Given the description of an element on the screen output the (x, y) to click on. 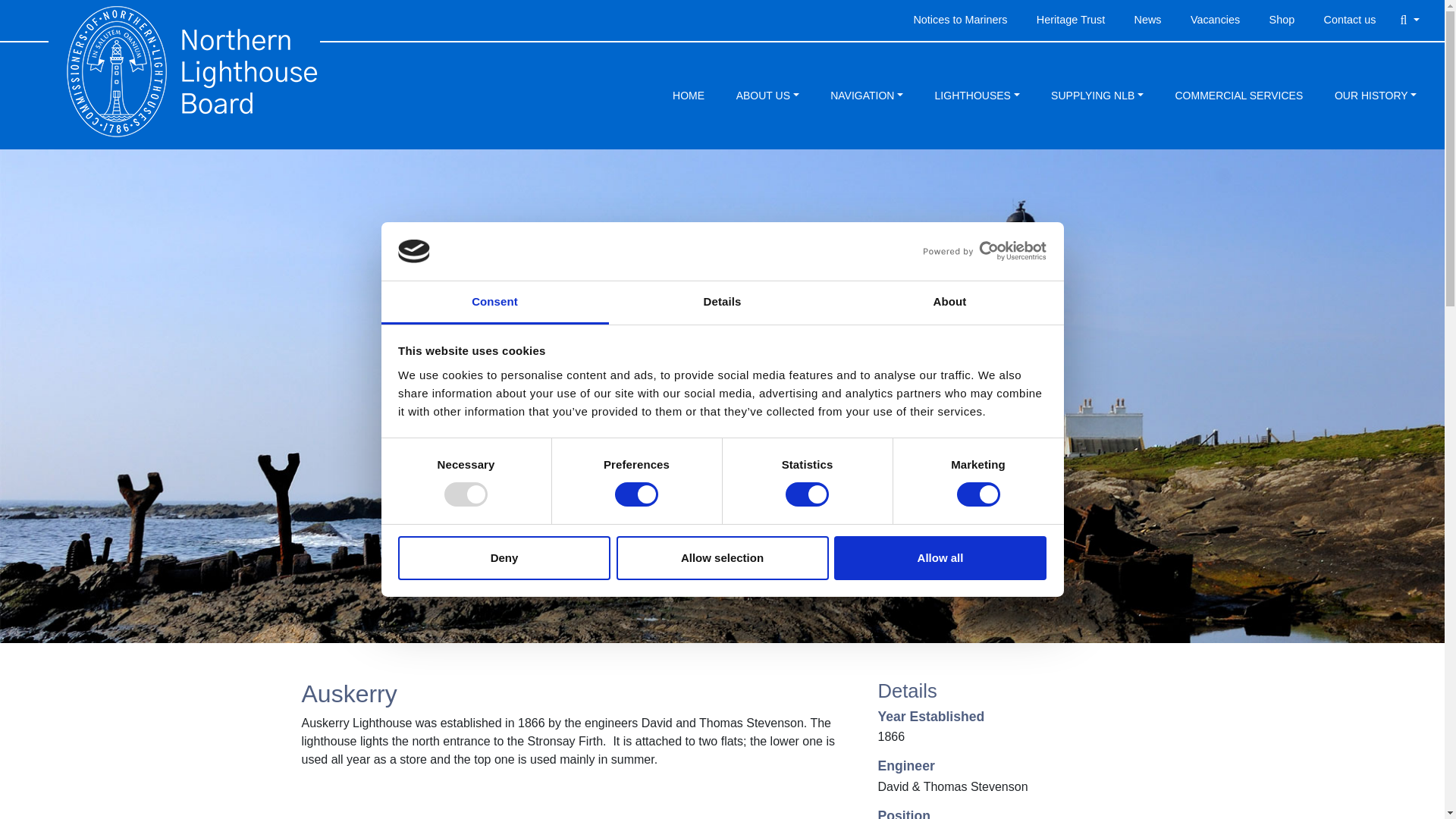
Details (721, 302)
About (948, 302)
Consent (494, 302)
